Given the description of an element on the screen output the (x, y) to click on. 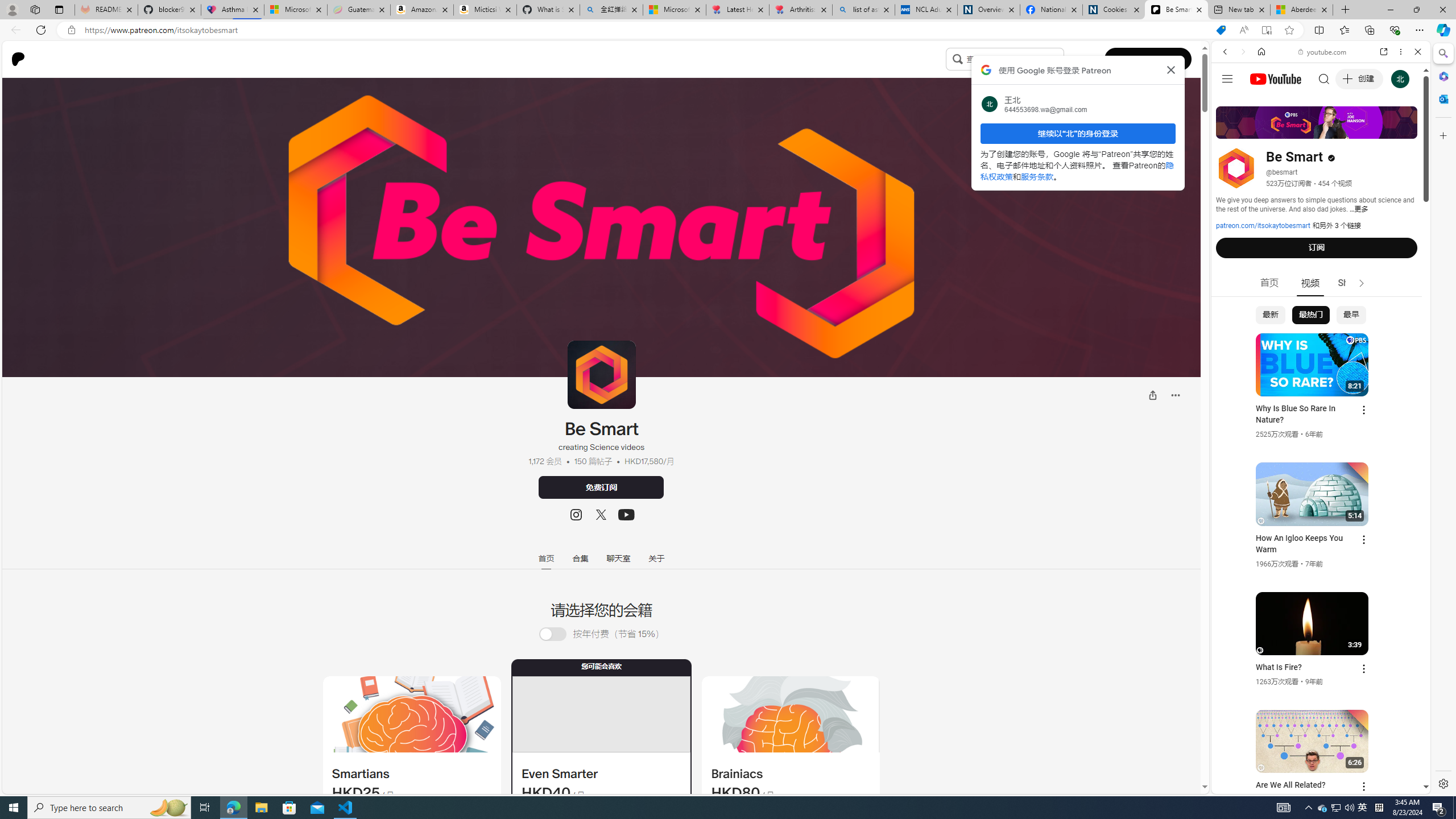
Search Filter, WEB (1230, 129)
